Given the description of an element on the screen output the (x, y) to click on. 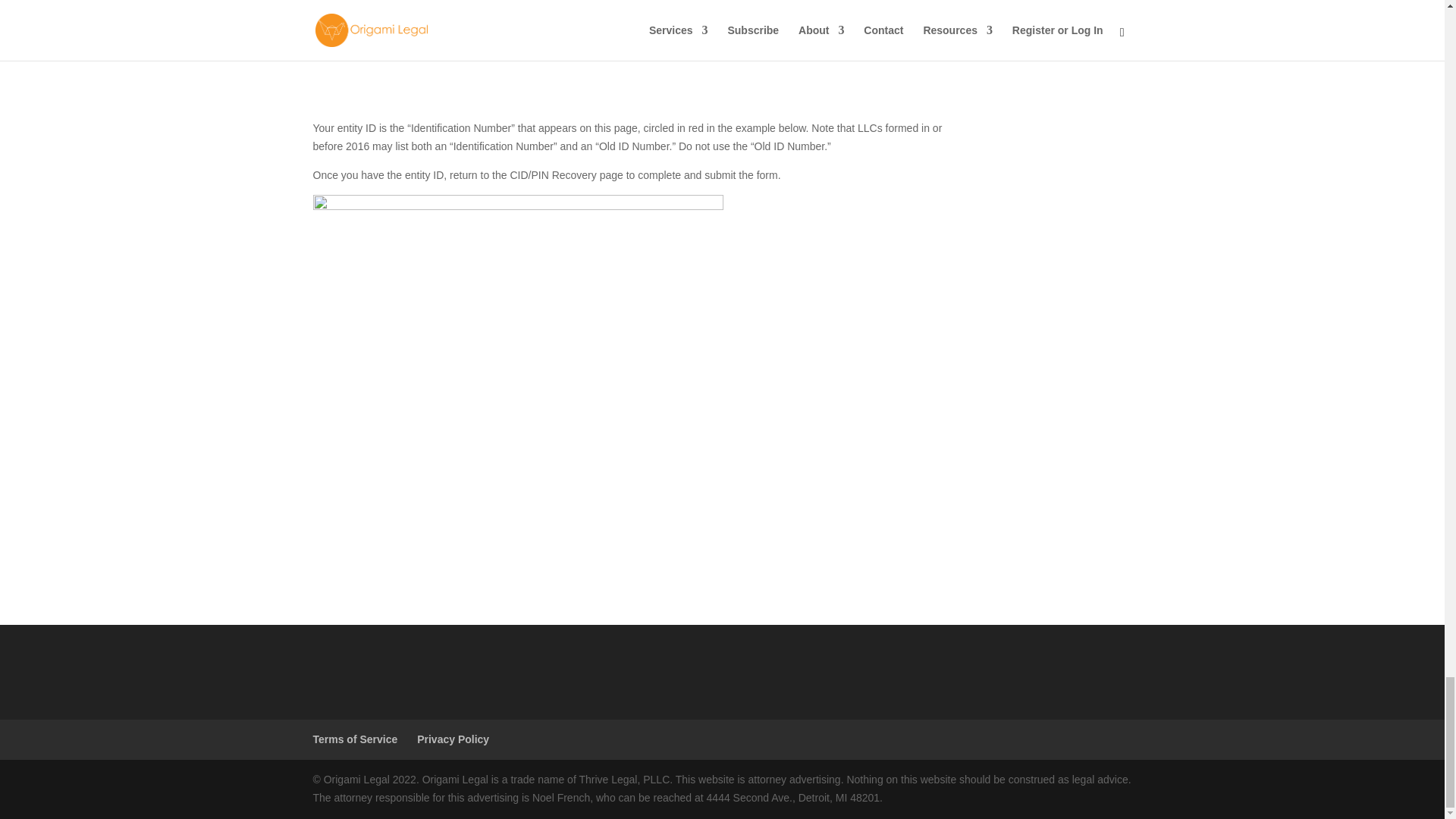
Terms of Service (355, 739)
Privacy Policy (452, 739)
